Given the description of an element on the screen output the (x, y) to click on. 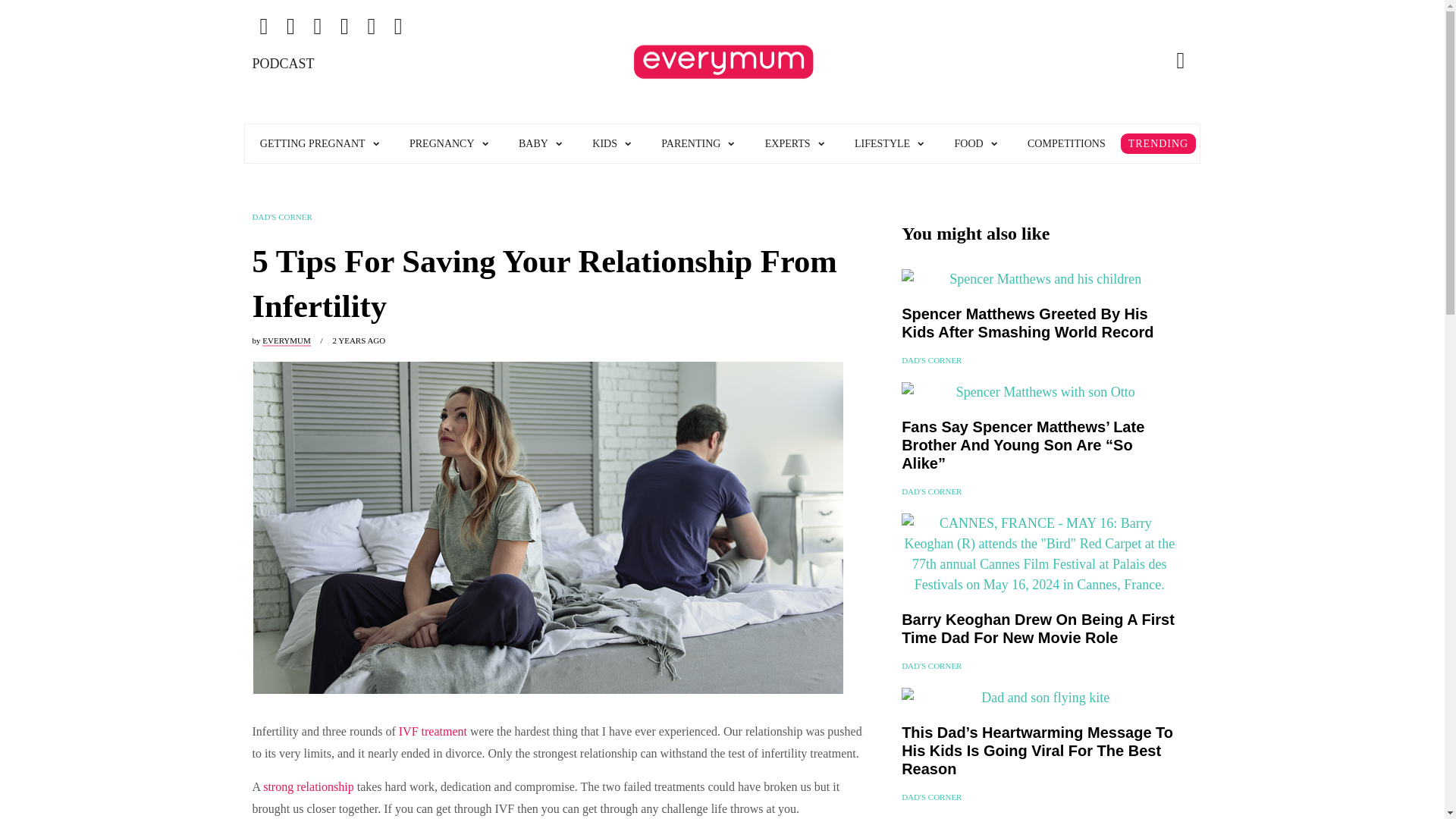
PREGNANCY (448, 143)
GETTING PREGNANT (319, 143)
PODCAST (333, 95)
BABY (539, 143)
KIDS (611, 143)
